Given the description of an element on the screen output the (x, y) to click on. 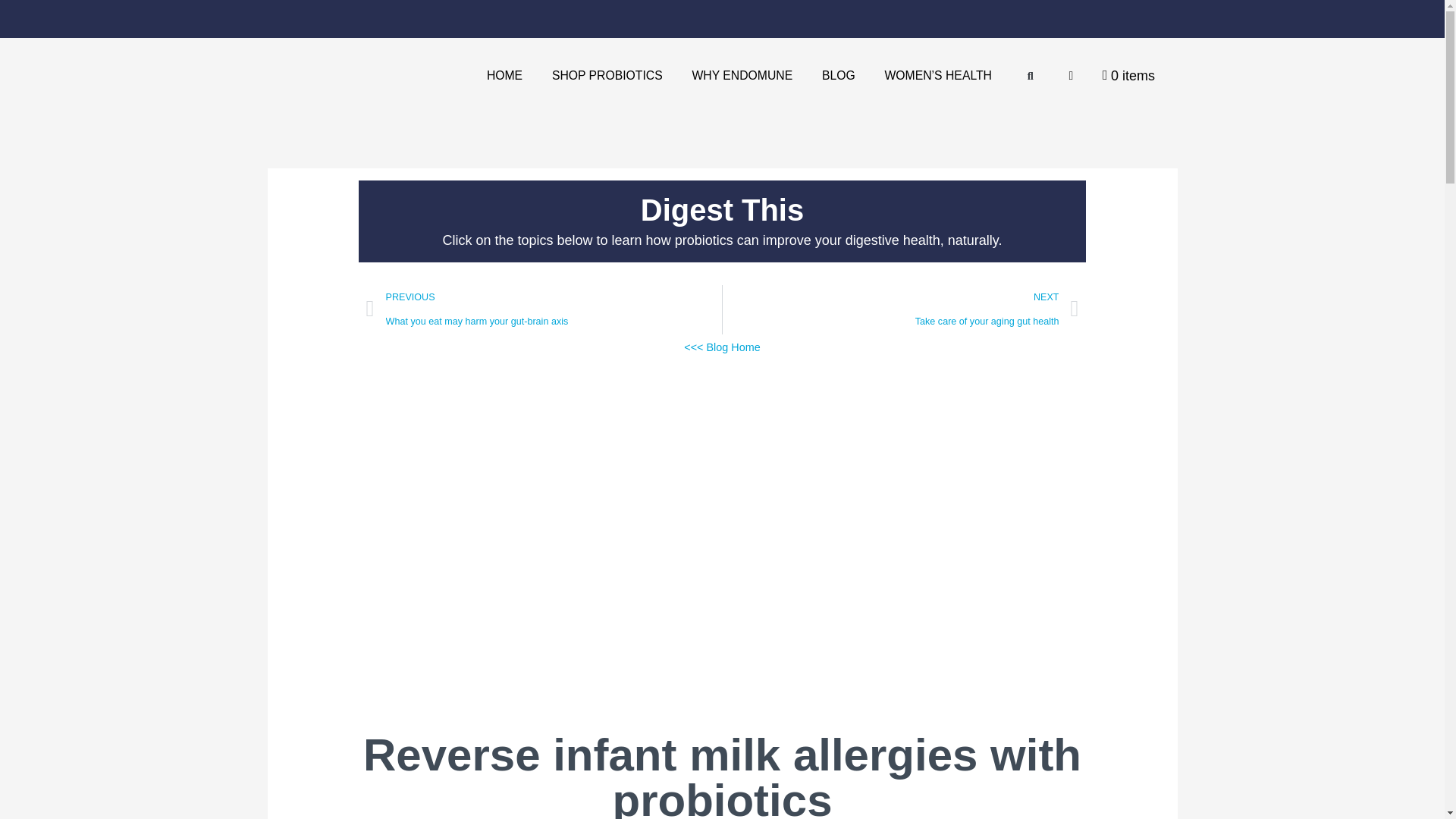
Start shopping (1128, 75)
HOME (504, 75)
0 items (1128, 75)
SHOP PROBIOTICS (606, 75)
WHY ENDOMUNE (741, 75)
BLOG (839, 75)
